Given the description of an element on the screen output the (x, y) to click on. 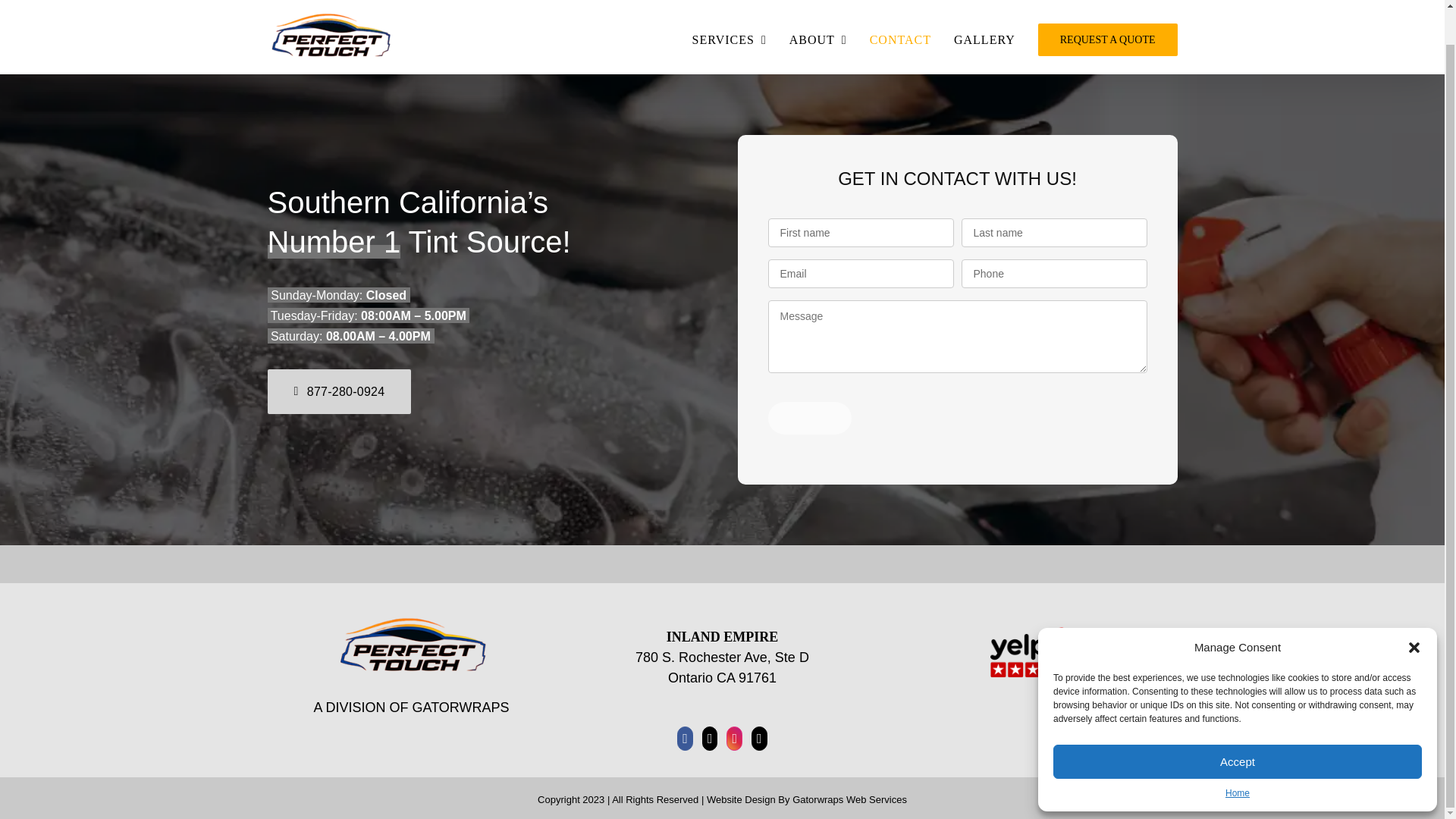
SERVICES (730, 39)
REQUEST A QUOTE (1107, 39)
GALLERY (983, 39)
CONTACT (900, 39)
Accept (1237, 725)
ABOUT (818, 39)
Home (1237, 757)
Submit (809, 418)
